Given the description of an element on the screen output the (x, y) to click on. 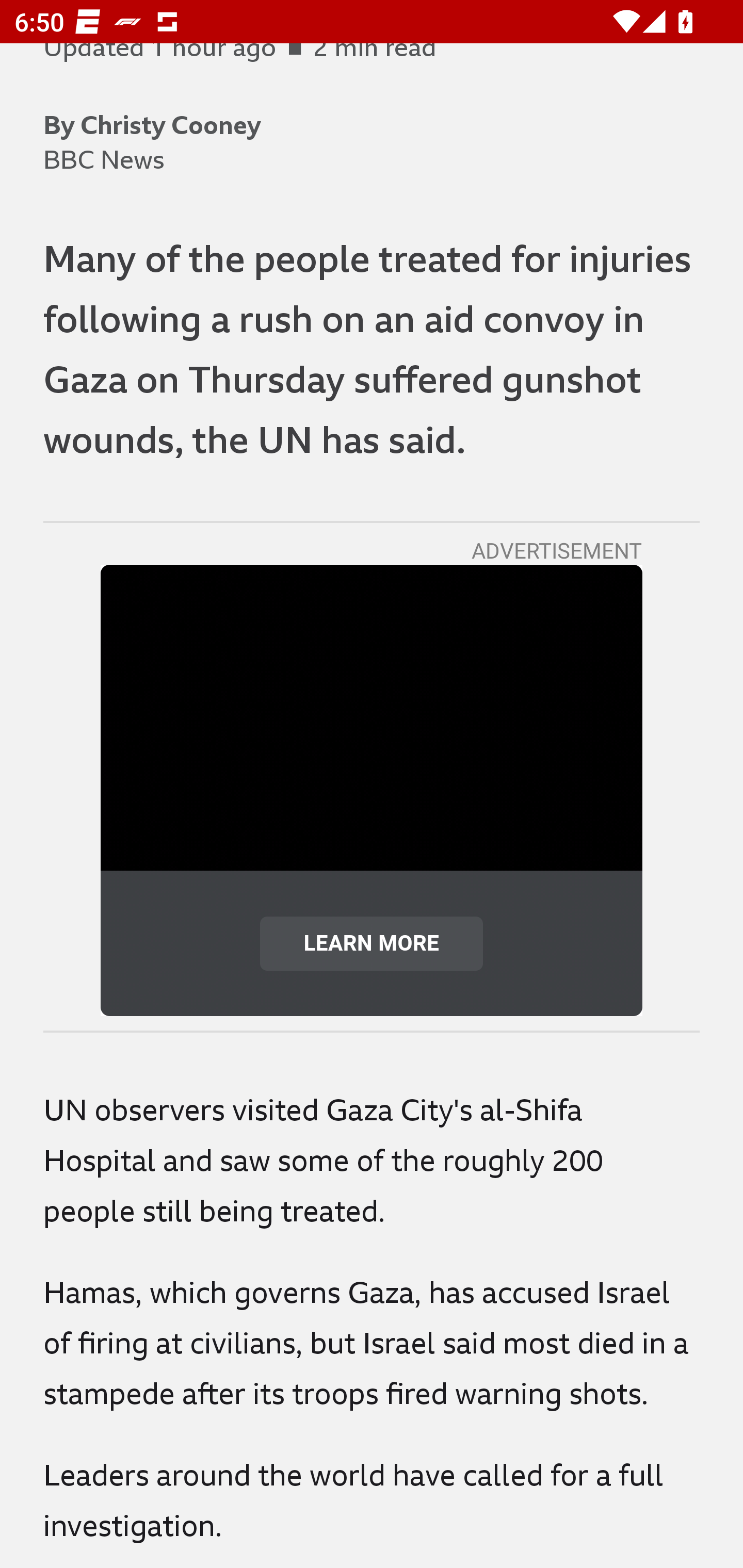
Video Player   LEARN MORE (371, 790)
LEARN MORE (371, 943)
